Given the description of an element on the screen output the (x, y) to click on. 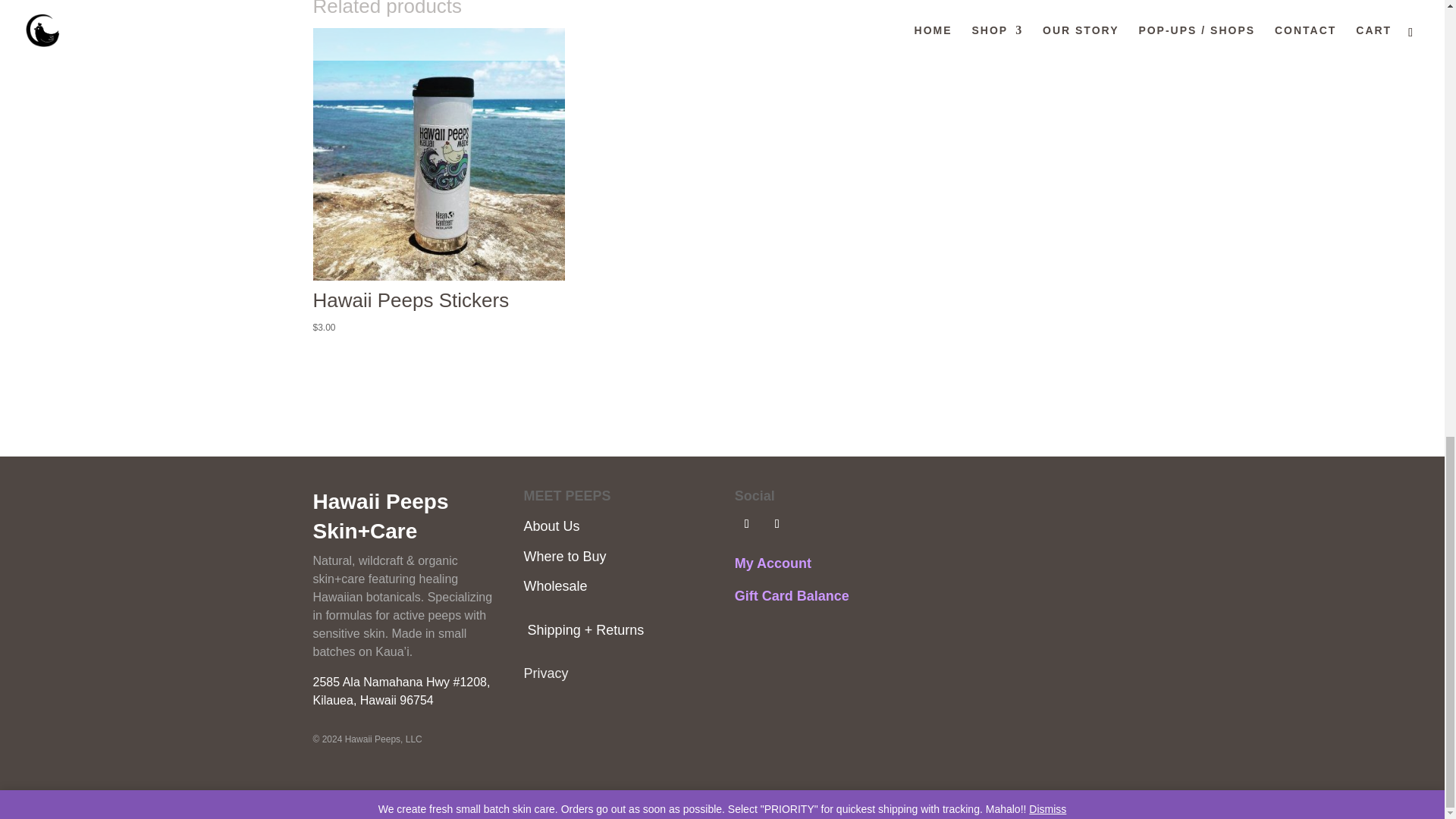
Follow on Instagram (777, 523)
Follow on Facebook (746, 523)
